Given the description of an element on the screen output the (x, y) to click on. 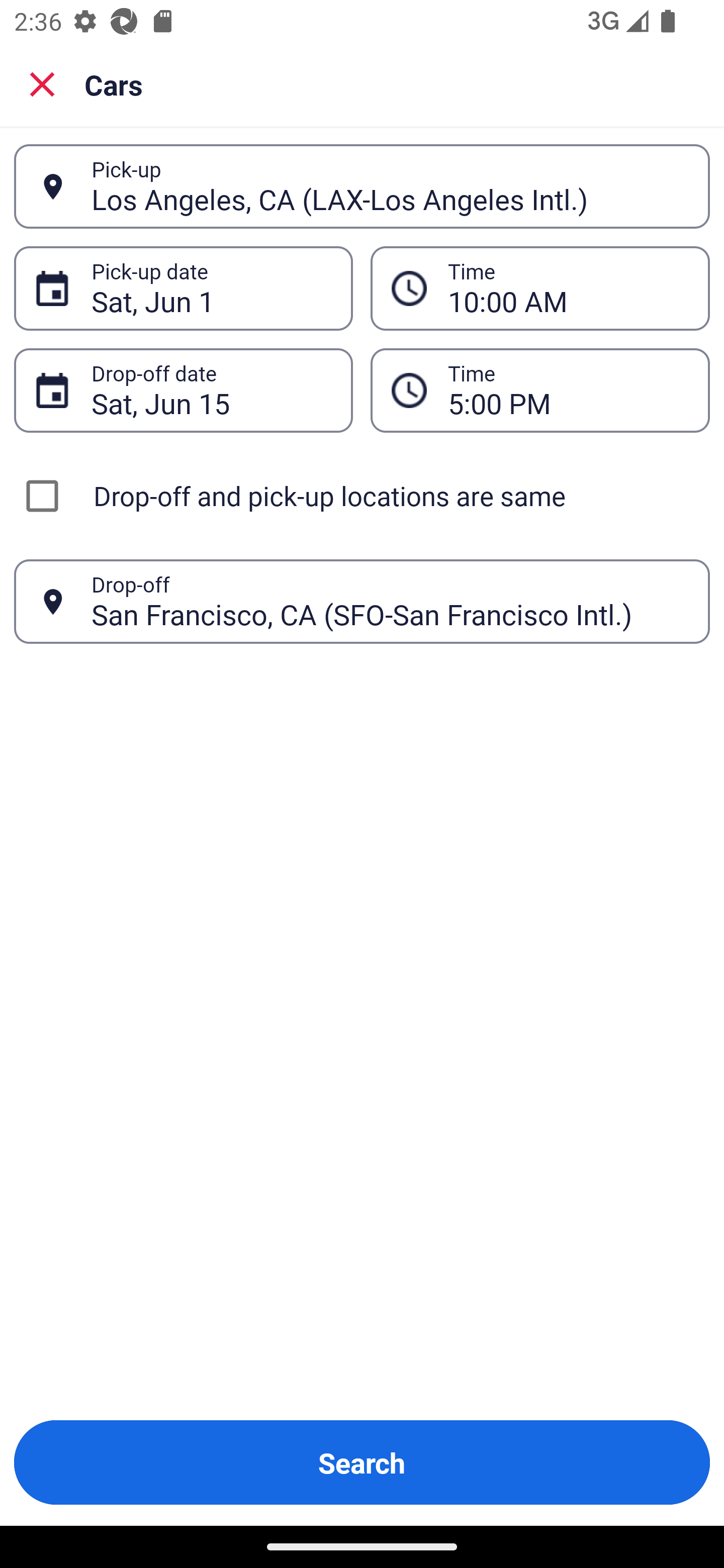
Close search screen (41, 83)
Los Angeles, CA (LAX-Los Angeles Intl.) Pick-up (361, 186)
Los Angeles, CA (LAX-Los Angeles Intl.) (389, 186)
Sat, Jun 1 Pick-up date (183, 288)
10:00 AM (540, 288)
Sat, Jun 1 (211, 288)
10:00 AM (568, 288)
Sat, Jun 15 Drop-off date (183, 390)
5:00 PM (540, 390)
Sat, Jun 15 (211, 390)
5:00 PM (568, 390)
Drop-off and pick-up locations are same (361, 495)
San Francisco, CA (SFO-San Francisco Intl.) (389, 601)
Search Button Search (361, 1462)
